Given the description of an element on the screen output the (x, y) to click on. 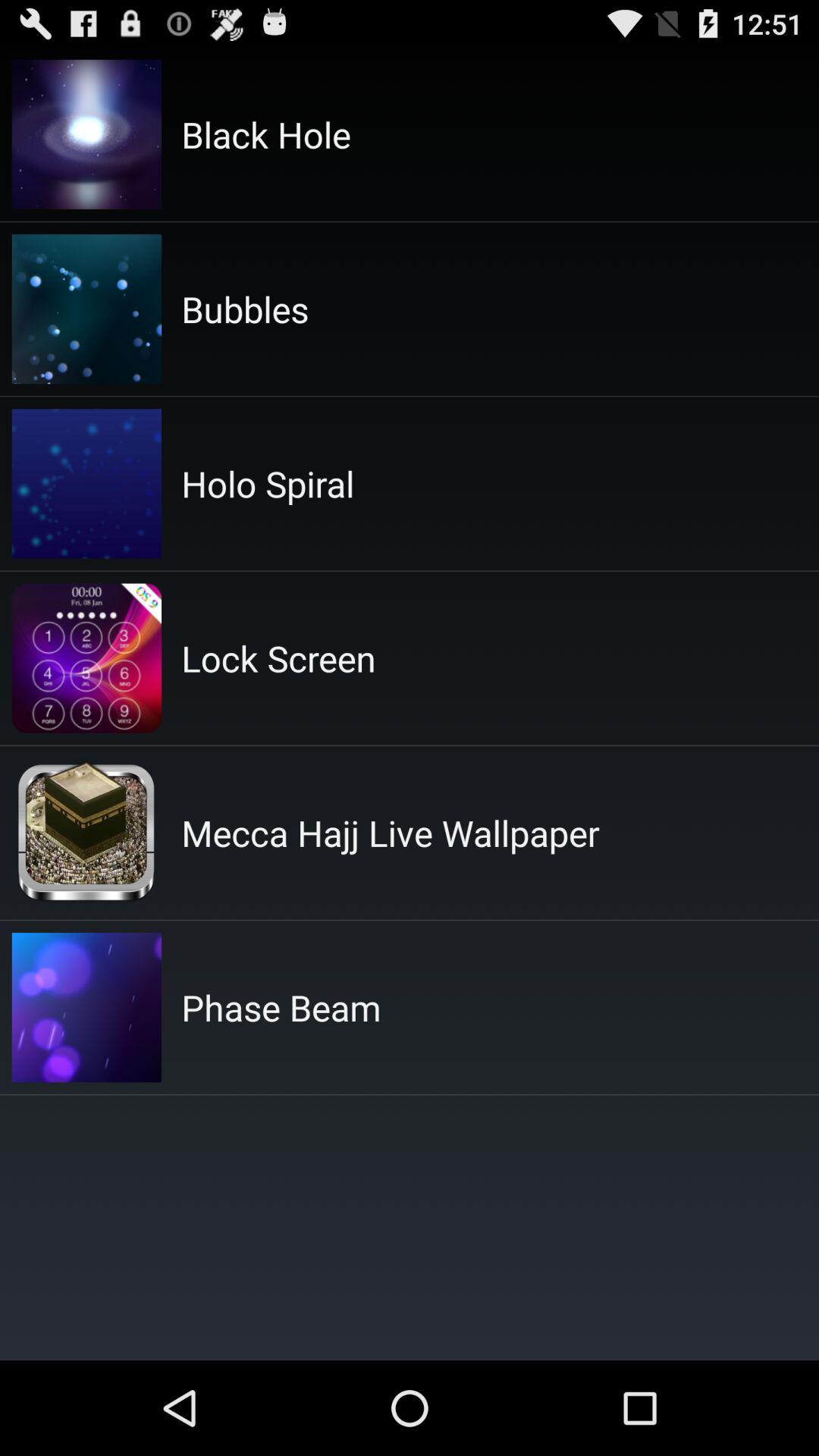
turn off app below mecca hajj live item (281, 1007)
